Given the description of an element on the screen output the (x, y) to click on. 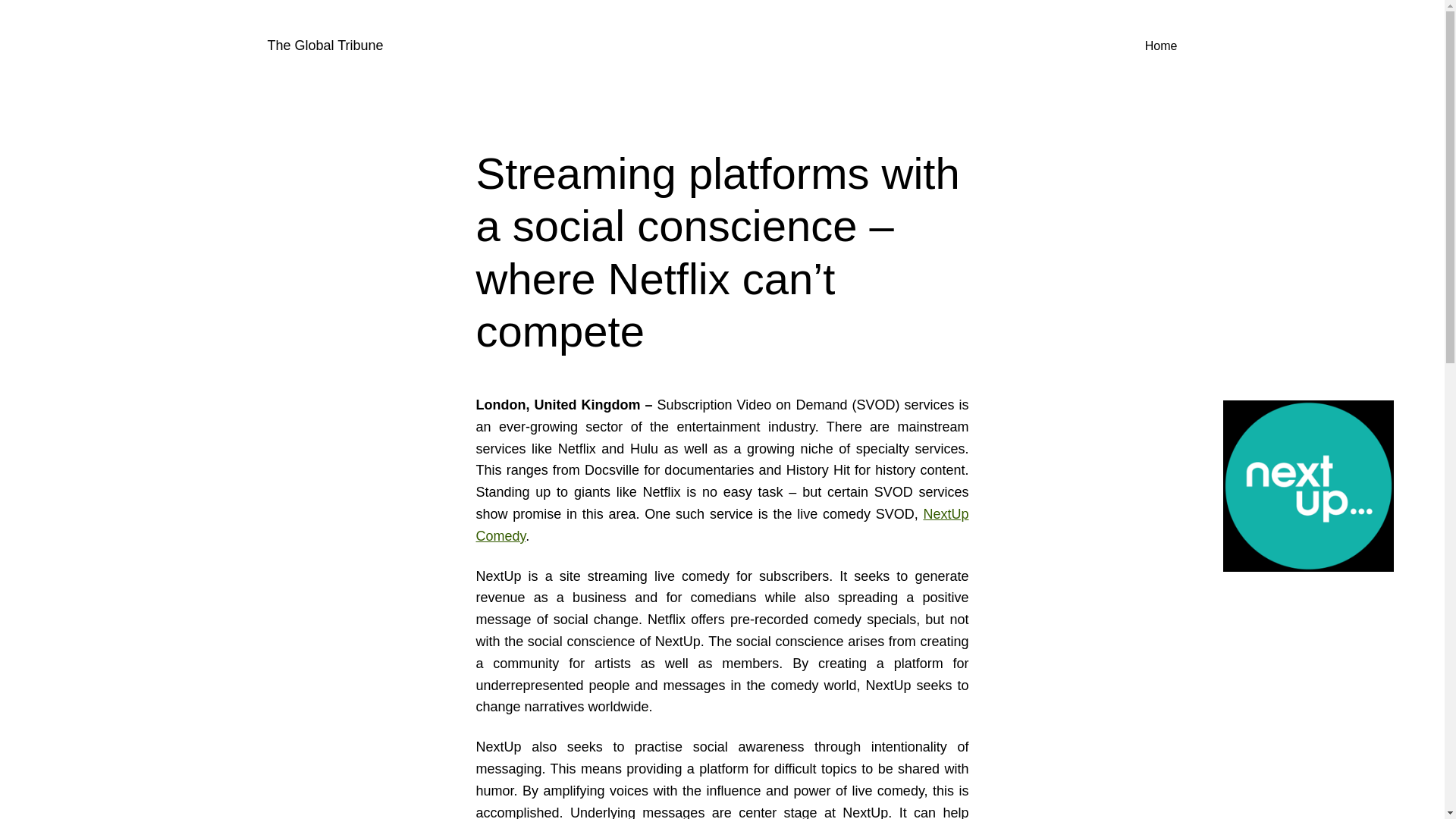
NextUp Comedy (722, 524)
The Global Tribune (324, 45)
Home (1160, 46)
